Given the description of an element on the screen output the (x, y) to click on. 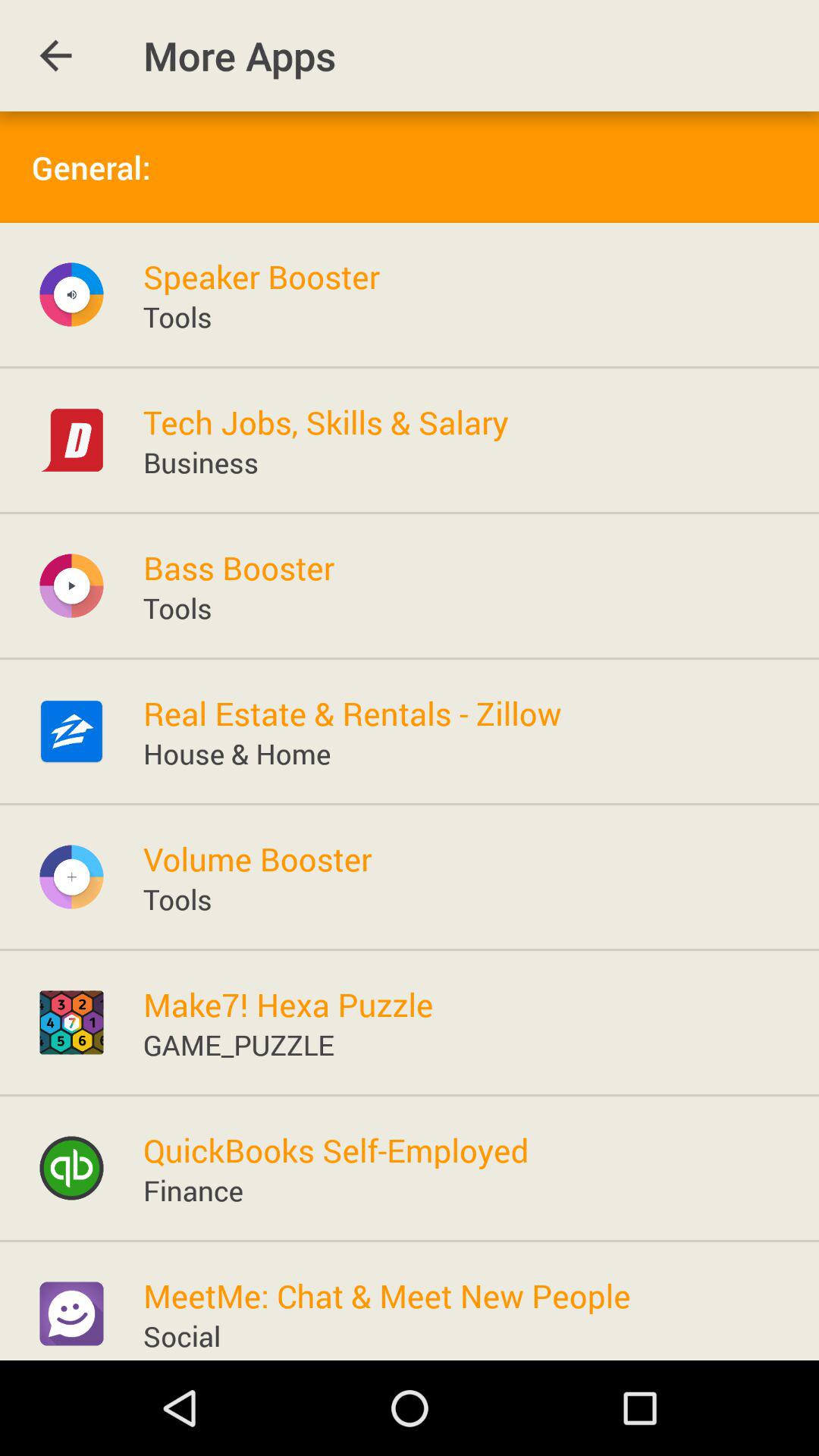
turn on the icon below the business icon (238, 567)
